Given the description of an element on the screen output the (x, y) to click on. 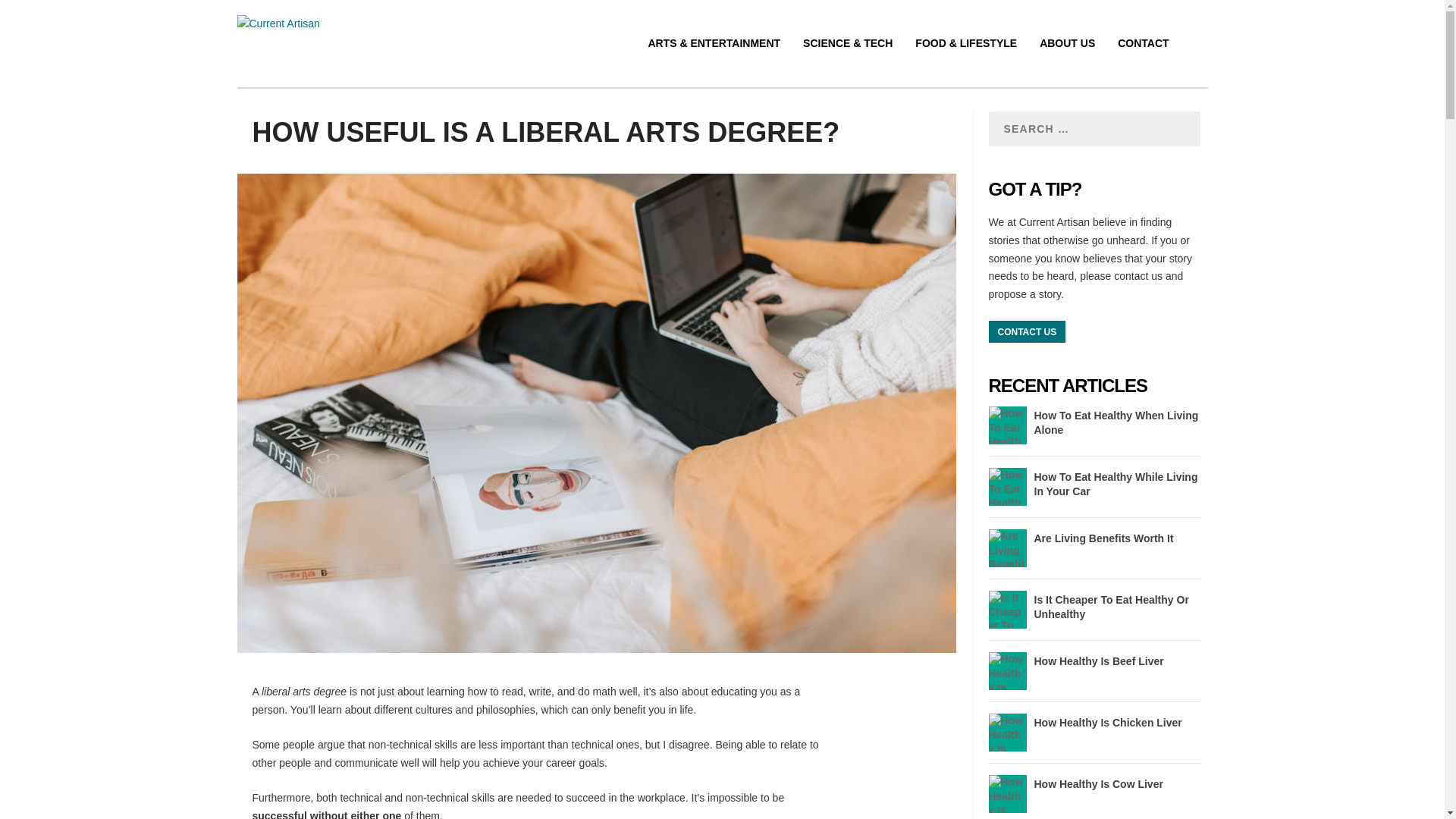
CONTACT (1143, 61)
How To Eat Healthy While Living In Your Car (1116, 483)
Search (227, 12)
How To Eat Healthy When Living Alone (1116, 422)
Are Living Benefits Worth It (1103, 538)
CONTACT US (1026, 332)
ABOUT US (1066, 61)
